Given the description of an element on the screen output the (x, y) to click on. 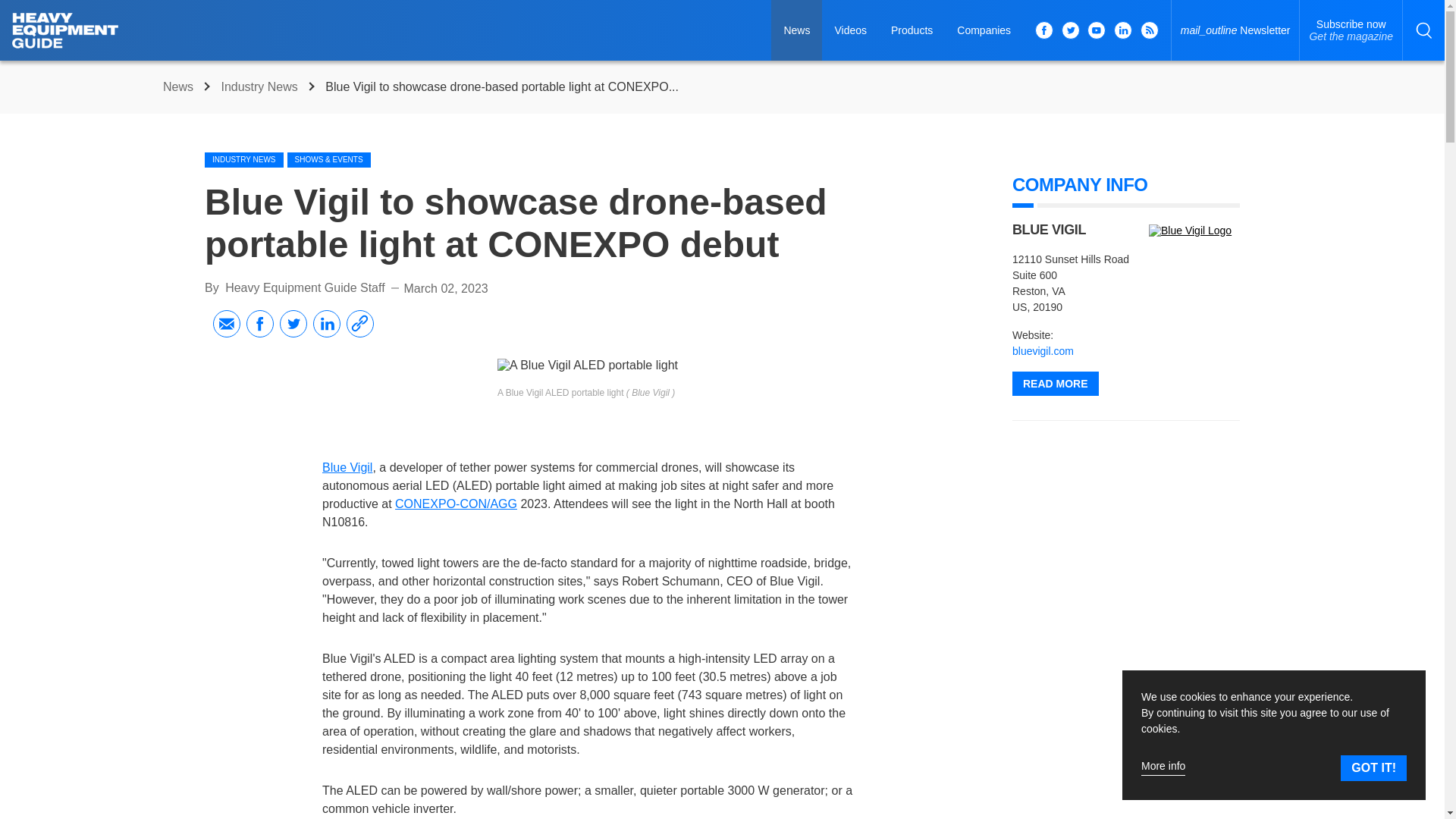
Industry News (261, 86)
News (179, 86)
Products (911, 30)
Heavy Equipment Guide Staff (305, 287)
A Blue Vigil ALED portable light (587, 365)
Blue Vigil (1194, 230)
BLUE VIGIL (1351, 30)
bluevigil.com (1048, 229)
Blue Vigil (1042, 350)
